Given the description of an element on the screen output the (x, y) to click on. 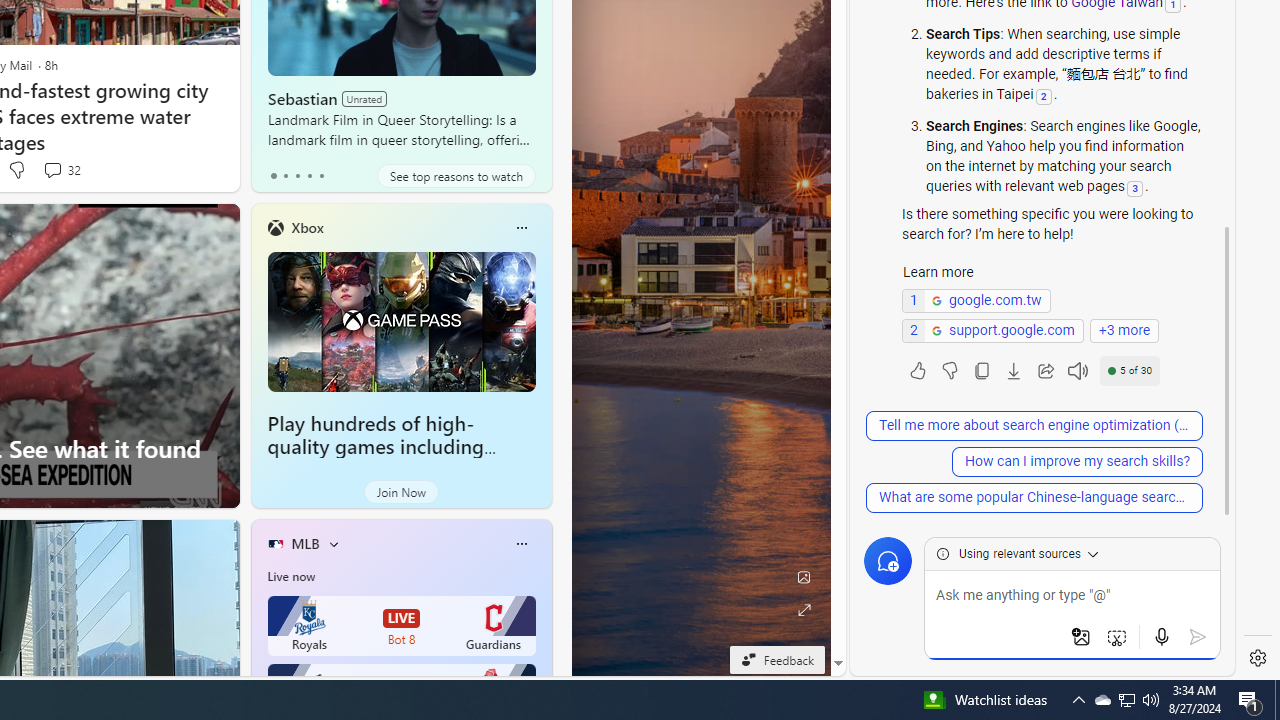
See top reasons to watch (456, 175)
tab-2 (297, 175)
tab-0 (273, 175)
Xbox (306, 227)
Join Now (401, 491)
